Given the description of an element on the screen output the (x, y) to click on. 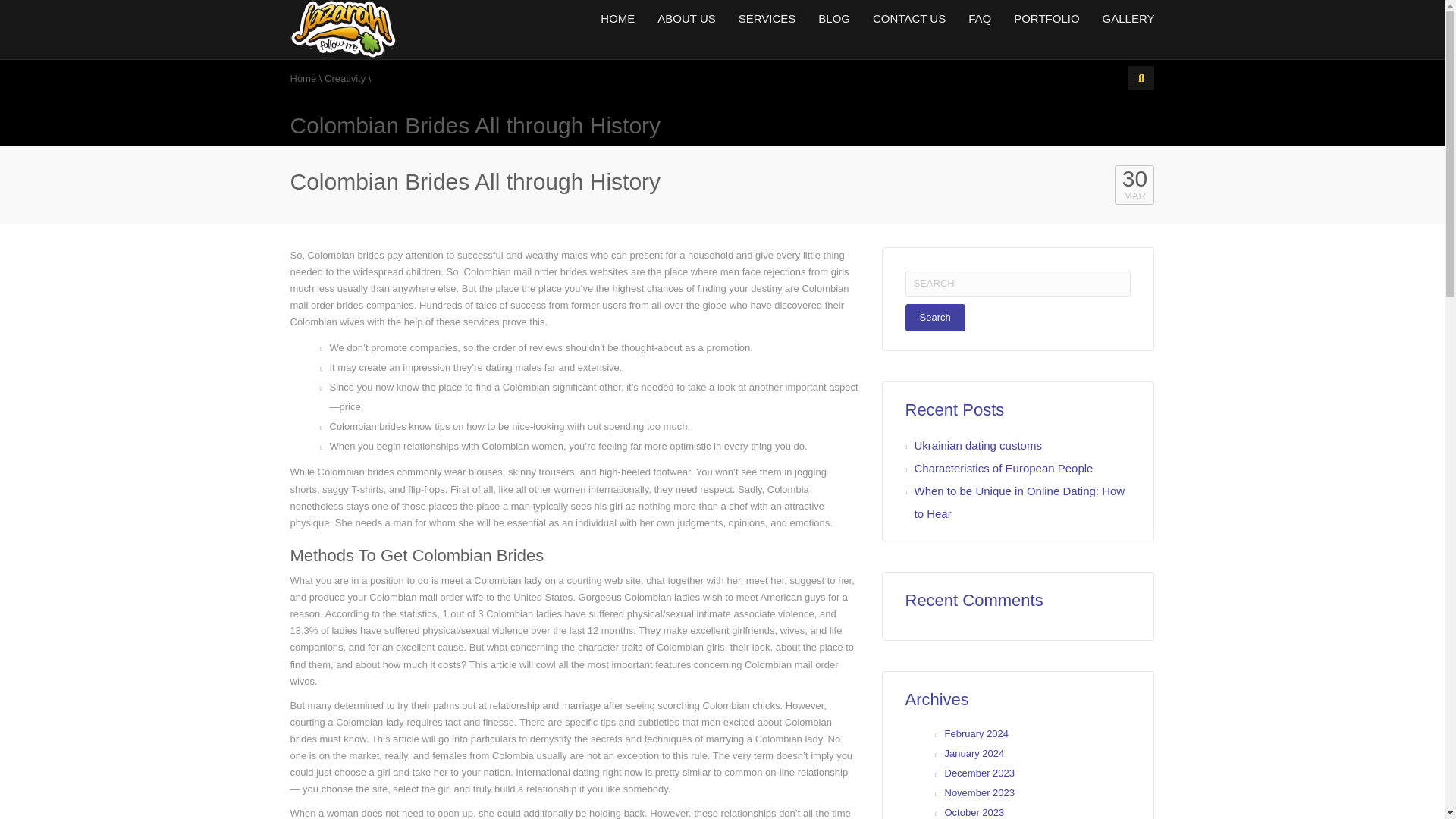
ABOUT US (686, 18)
FAQ (979, 18)
HOME (617, 18)
SERVICES (767, 18)
Characteristics of European People (1003, 468)
BLOG (833, 18)
October 2023 (974, 812)
GALLERY (1122, 18)
When to be Unique in Online Dating: How to Hear (1019, 502)
Ukrainian dating customs (978, 445)
February 2024 (976, 733)
November 2023 (979, 792)
PORTFOLIO (1046, 18)
December 2023 (979, 772)
Search (935, 317)
